Given the description of an element on the screen output the (x, y) to click on. 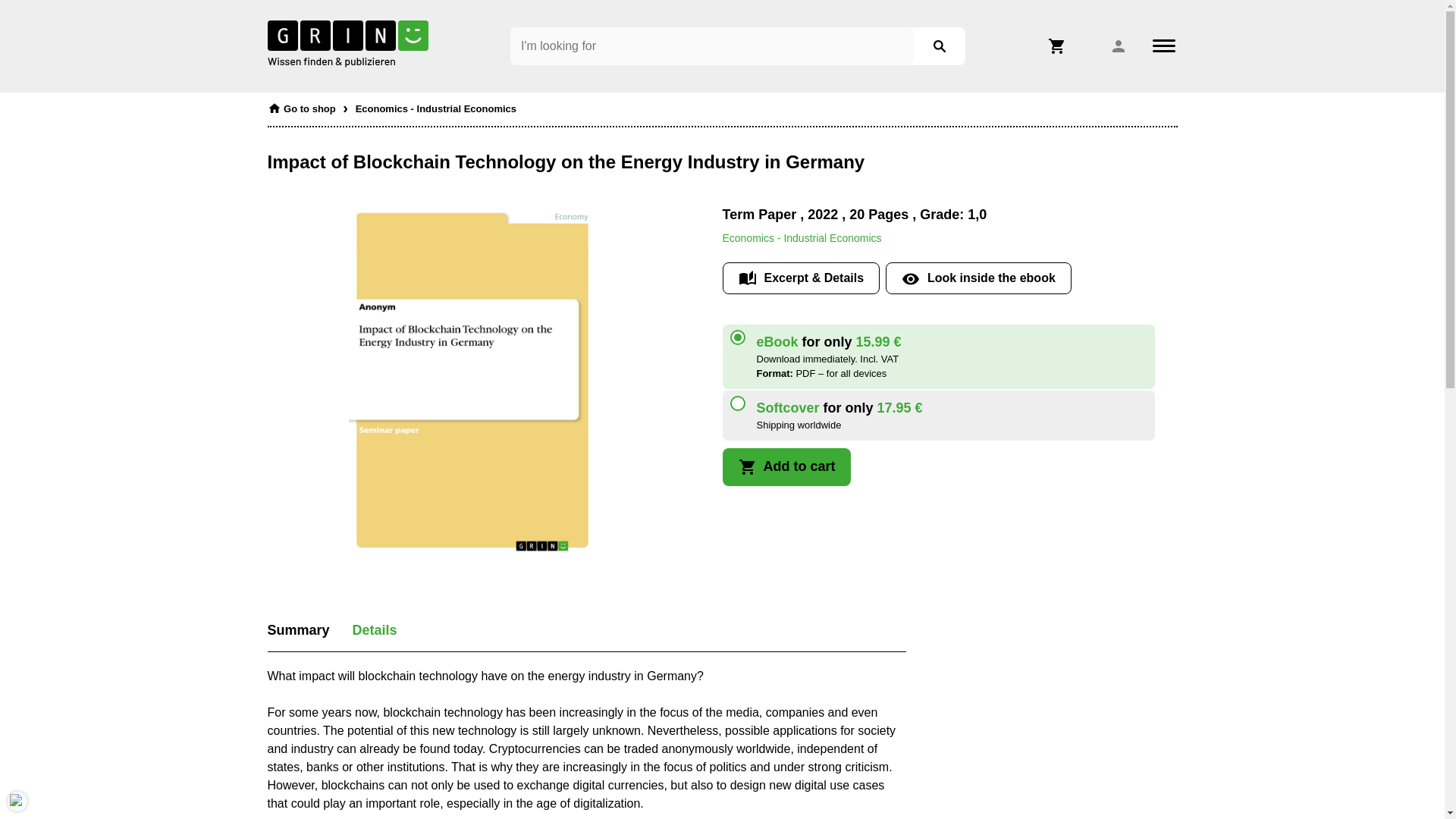
Details (374, 629)
Add to cart (786, 466)
Look inside the ebook (978, 278)
Details (374, 629)
Summary (297, 629)
Summary (297, 629)
Go to shop (300, 104)
Economics - Industrial Economics (801, 237)
Economics - Industrial Economics (435, 104)
Datenschutz-Einstellungen (17, 801)
